Given the description of an element on the screen output the (x, y) to click on. 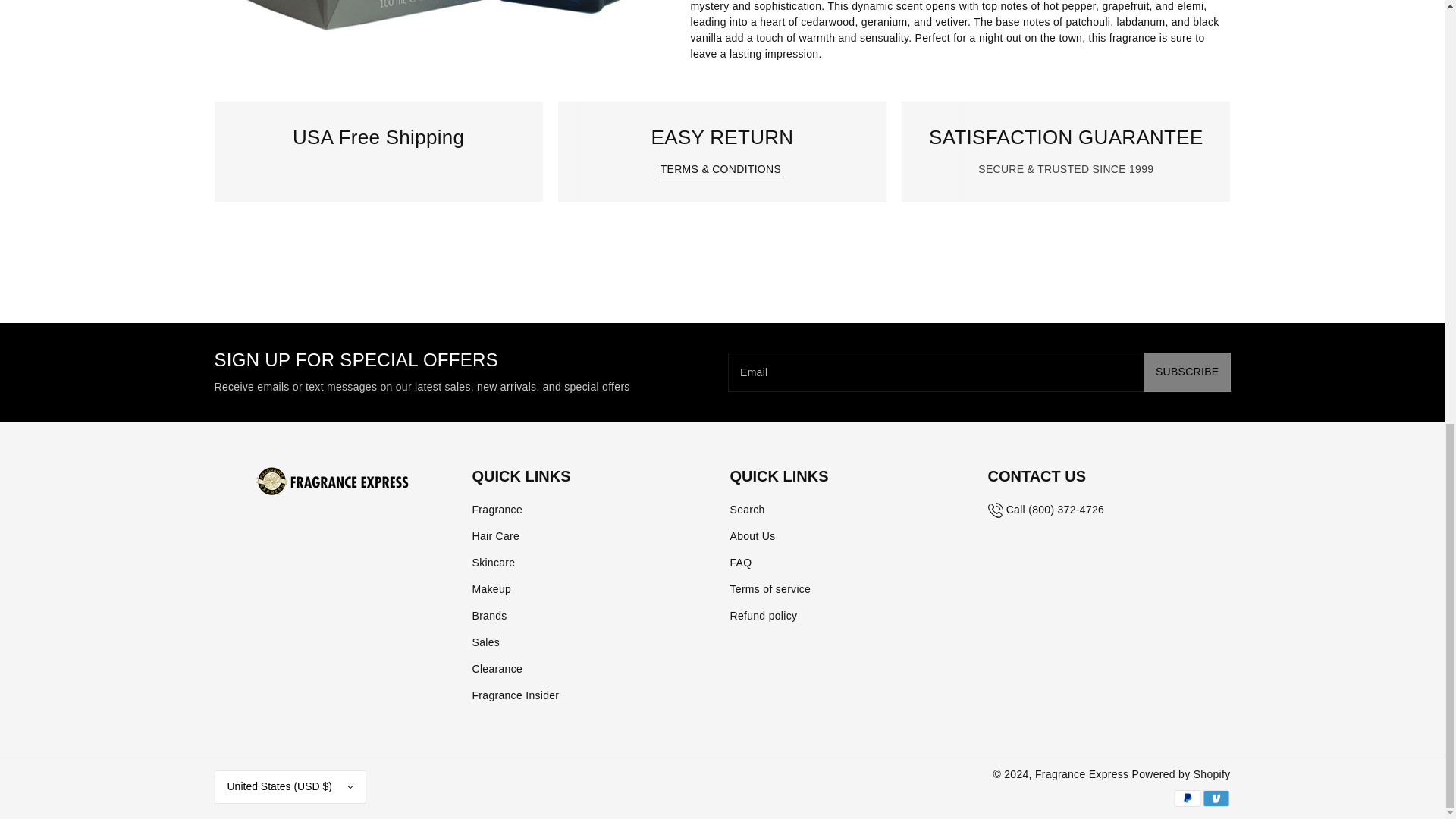
Venmo (1215, 798)
PayPal (1186, 798)
